Given the description of an element on the screen output the (x, y) to click on. 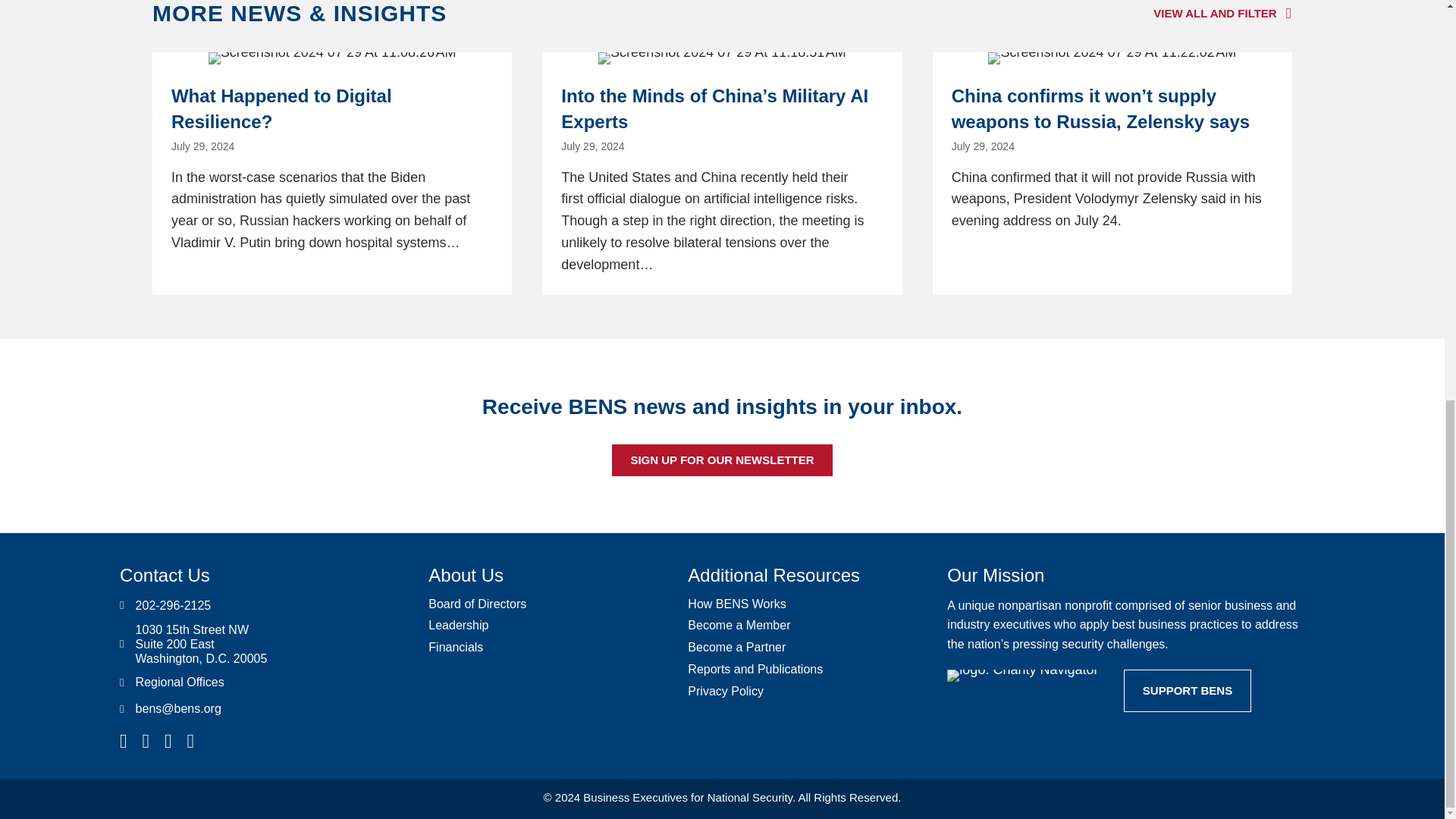
Contact Us (164, 575)
About Us (465, 575)
Our Mission (995, 575)
What Happened to Digital Resilience? (332, 173)
